Given the description of an element on the screen output the (x, y) to click on. 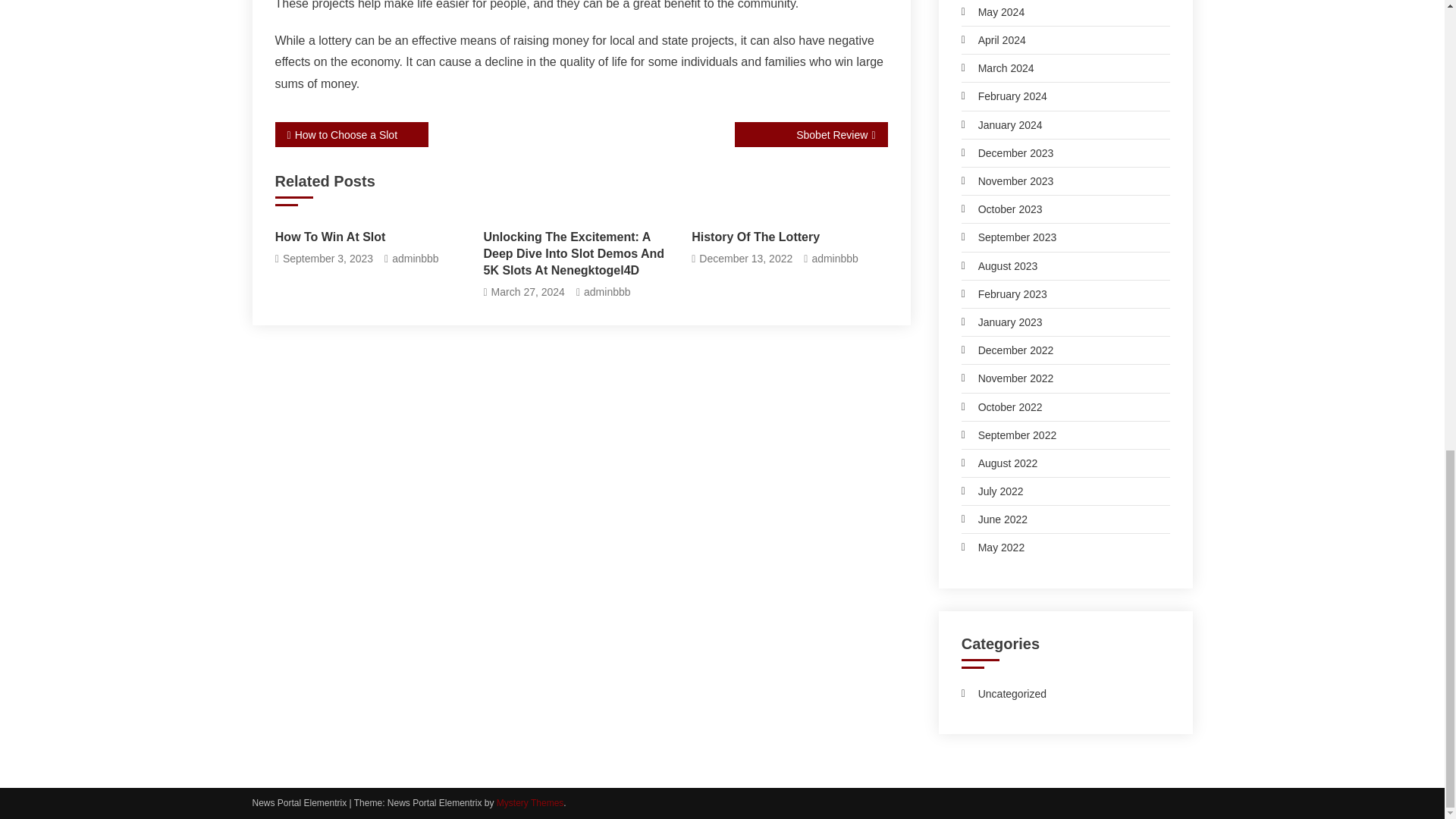
adminbbb (834, 258)
September 3, 2023 (327, 258)
April 2024 (993, 39)
March 27, 2024 (528, 292)
March 2024 (996, 67)
History Of The Lottery (788, 237)
December 13, 2022 (745, 258)
February 2024 (1003, 96)
May 2024 (992, 12)
adminbbb (415, 258)
adminbbb (606, 292)
How to Choose a Slot (351, 134)
Sbobet Review (809, 134)
How To Win At Slot (372, 237)
